Given the description of an element on the screen output the (x, y) to click on. 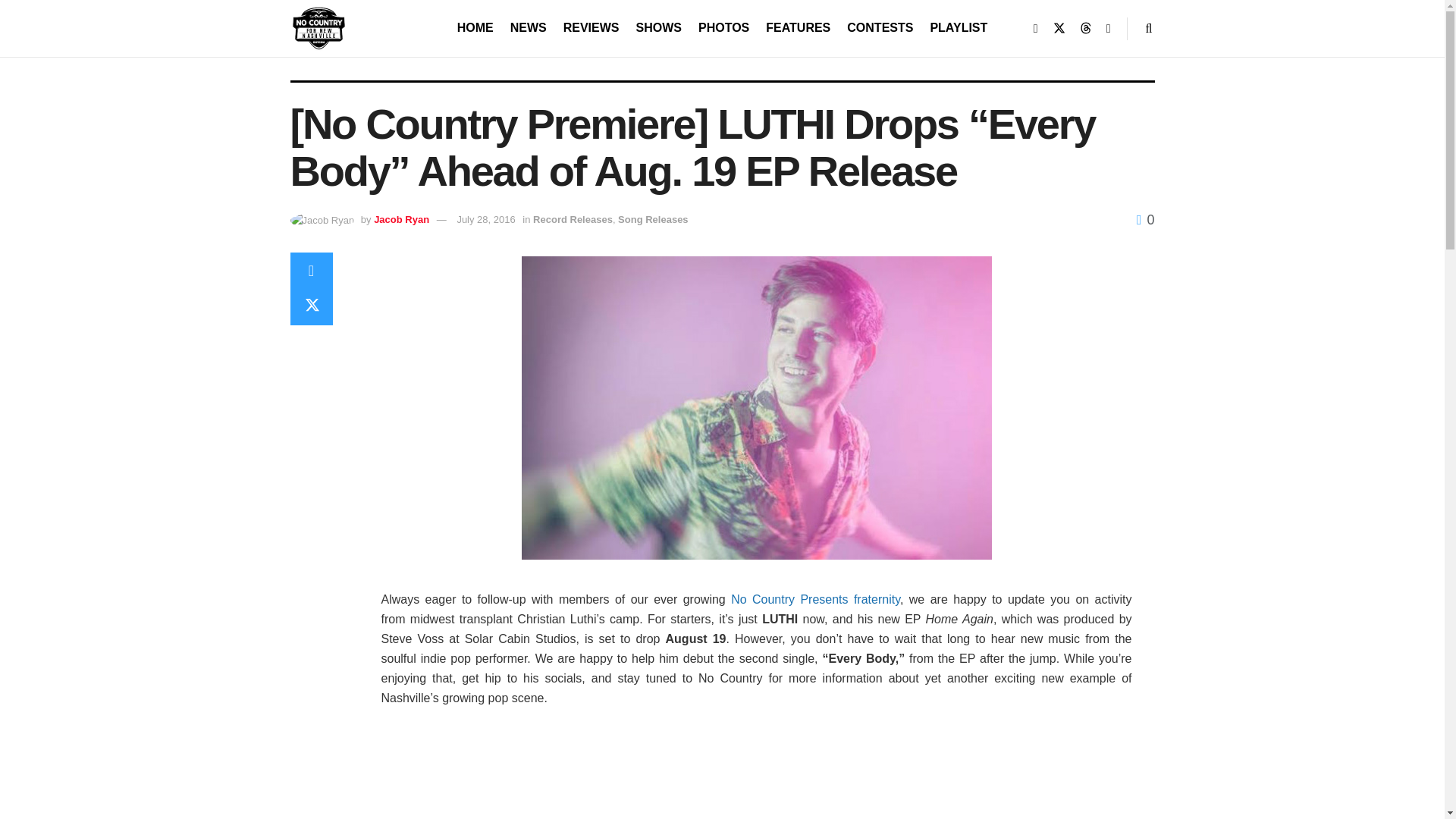
Song Releases (652, 219)
REVIEWS (591, 27)
PHOTOS (723, 27)
CONTESTS (879, 27)
Jacob Ryan (401, 219)
FEATURES (797, 27)
NEWS (529, 27)
July 28, 2016 (486, 219)
0 (1145, 219)
SHOWS (658, 27)
HOME (475, 27)
Record Releases (572, 219)
PLAYLIST (958, 27)
